Given the description of an element on the screen output the (x, y) to click on. 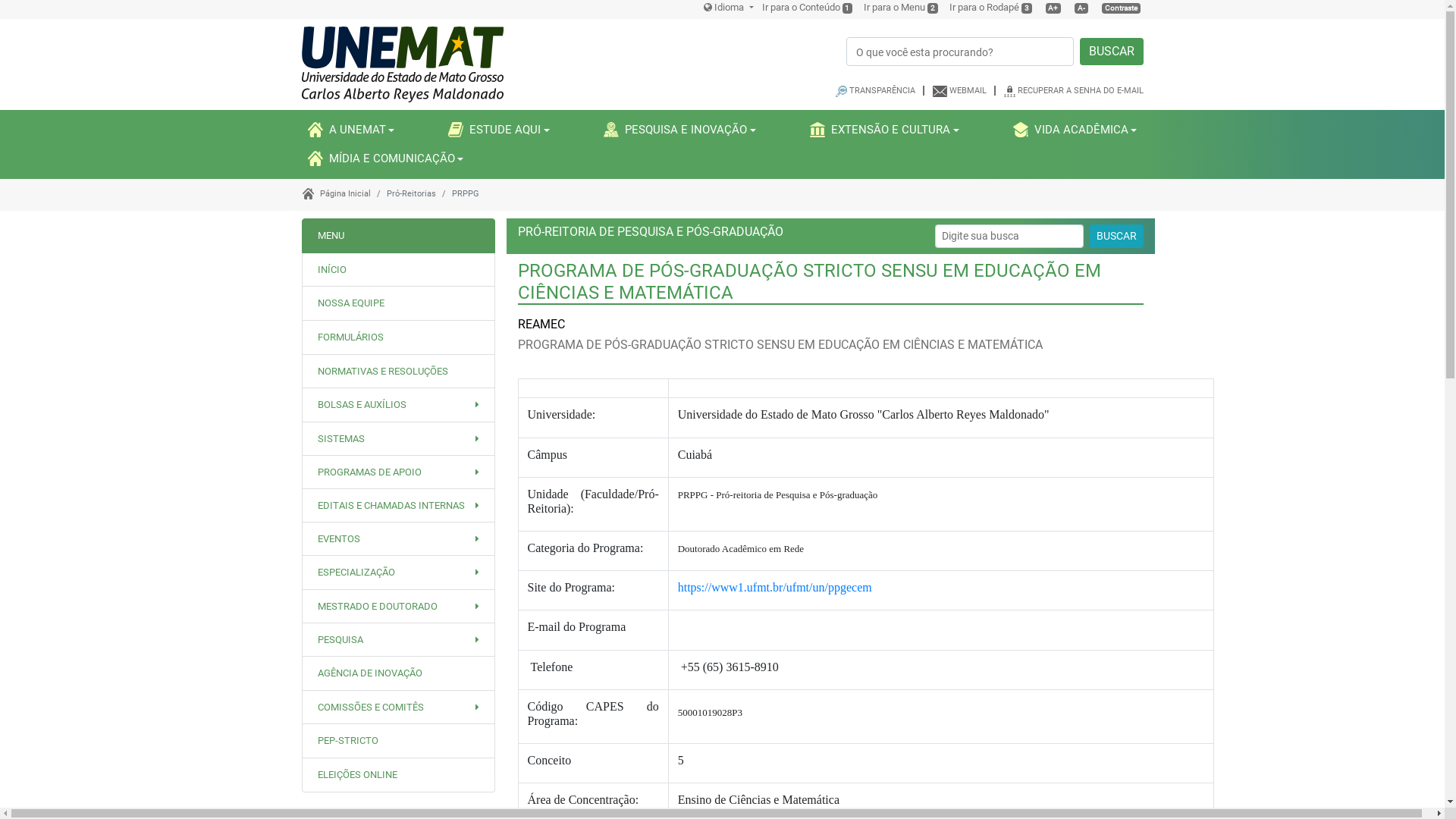
BUSCAR Element type: text (1115, 235)
Idioma Element type: text (728, 7)
A+ Element type: text (1052, 7)
SISTEMAS Element type: text (397, 438)
NOSSA EQUIPE Element type: text (349, 302)
Contraste Element type: text (1120, 7)
EDITAIS E CHAMADAS INTERNAS Element type: text (397, 505)
PROGRAMAS DE APOIO Element type: text (397, 471)
https://www1.ufmt.br/ufmt/un/ppgecem Element type: text (774, 587)
MESTRADO E DOUTORADO Element type: text (397, 606)
ESTUDE AQUI Element type: text (498, 130)
WEBMAIL Element type: text (967, 90)
A UNEMAT Element type: text (351, 130)
BUSCAR Element type: text (1111, 51)
A- Element type: text (1081, 7)
PEP-STRICTO Element type: text (346, 740)
Ir para o Menu Element type: text (894, 6)
RECUPERAR A SENHA DO E-MAIL Element type: text (1080, 90)
EVENTOS Element type: text (397, 538)
PESQUISA Element type: text (397, 639)
